Given the description of an element on the screen output the (x, y) to click on. 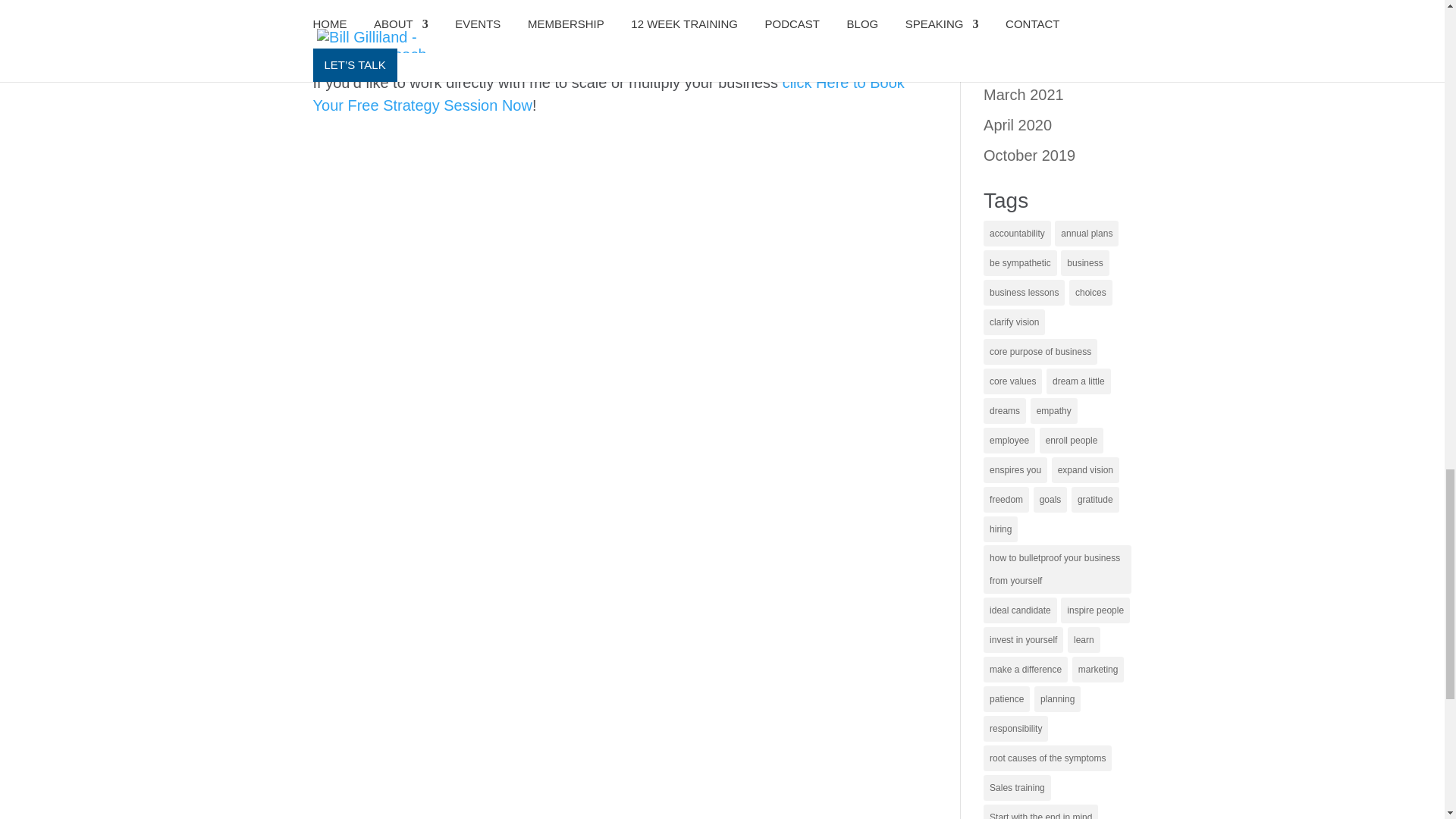
click Here to Book Your Free Strategy Session Now (608, 93)
